Given the description of an element on the screen output the (x, y) to click on. 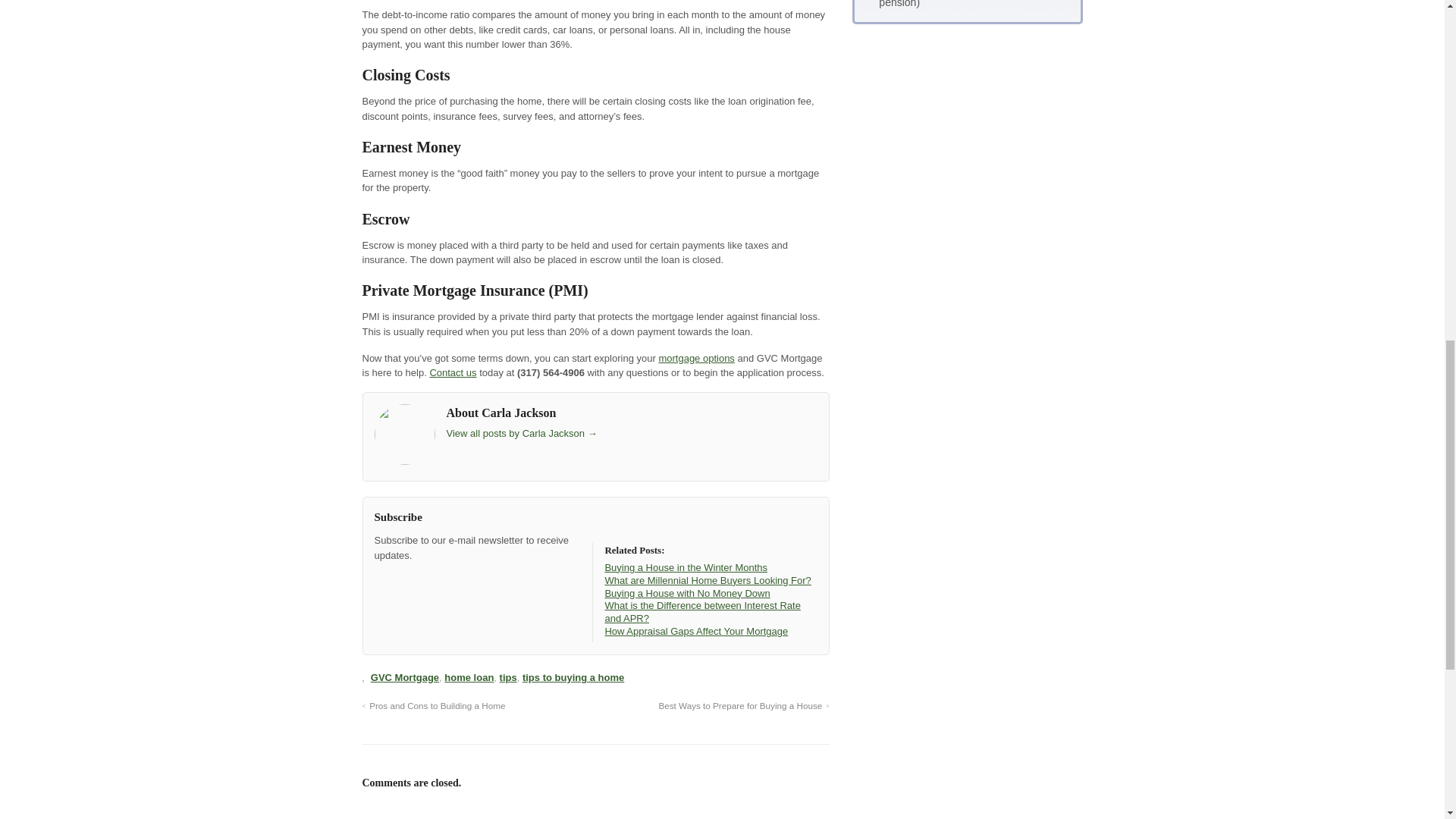
What is the Difference between Interest Rate and APR? (701, 611)
home loan (468, 677)
What is the Difference between Interest Rate and APR? (701, 611)
Pros and Cons to Building a Home (433, 705)
RSS (385, 582)
How Appraisal Gaps Affect Your Mortgage (695, 631)
What are Millennial Home Buyers Looking For? (707, 580)
Buying a House in the Winter Months (685, 567)
Buying a House in the Winter Months (685, 567)
GVC Mortgage (405, 677)
tips (507, 677)
What are Millennial Home Buyers Looking For? (707, 580)
tips to buying a home (573, 677)
Contact us (452, 372)
Best Ways to Prepare for Buying a House (743, 705)
